Given the description of an element on the screen output the (x, y) to click on. 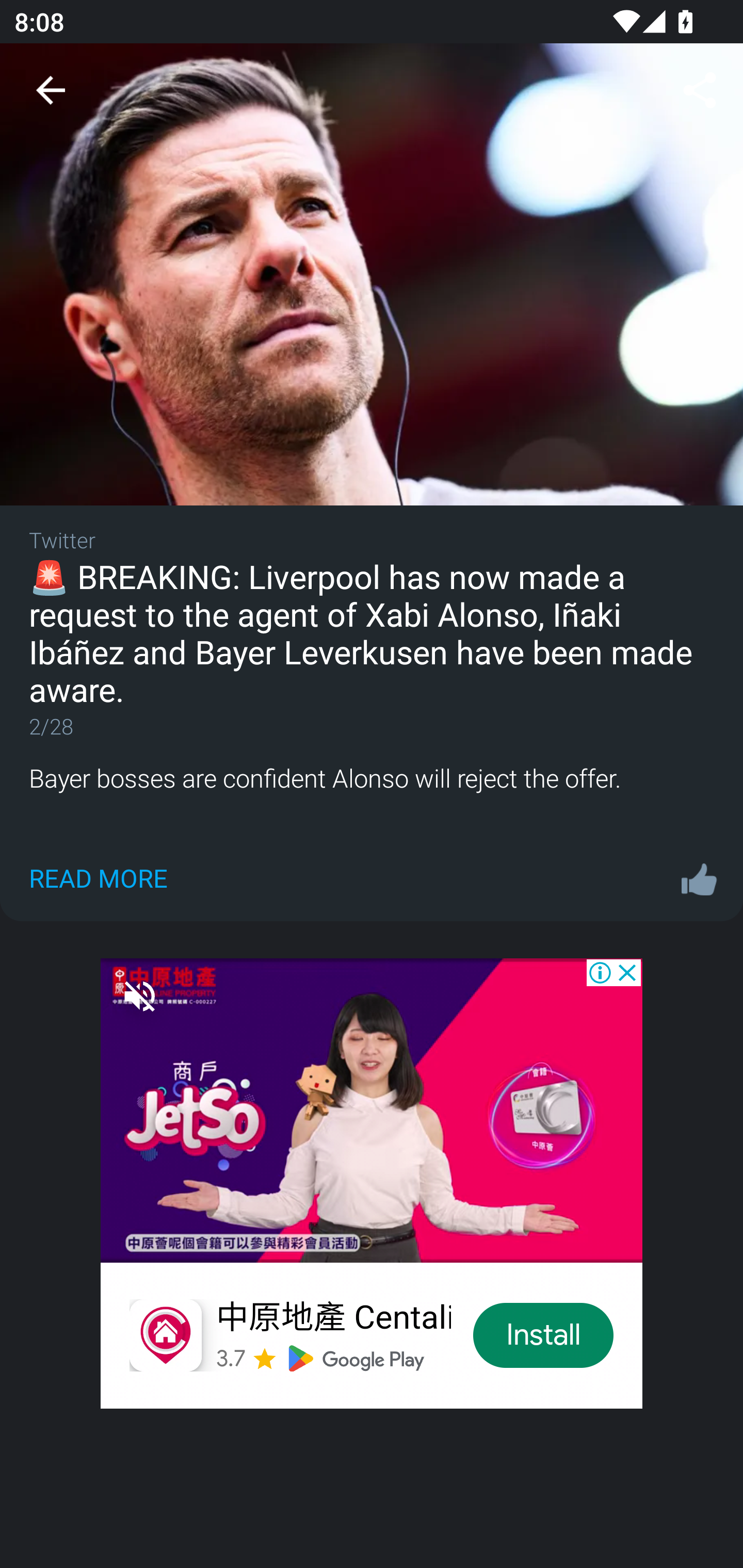
Navigate up (50, 90)
READ MORE (97, 877)
中原地產 Centaline … 3.7 Install Install (371, 1173)
Install (543, 1334)
